Given the description of an element on the screen output the (x, y) to click on. 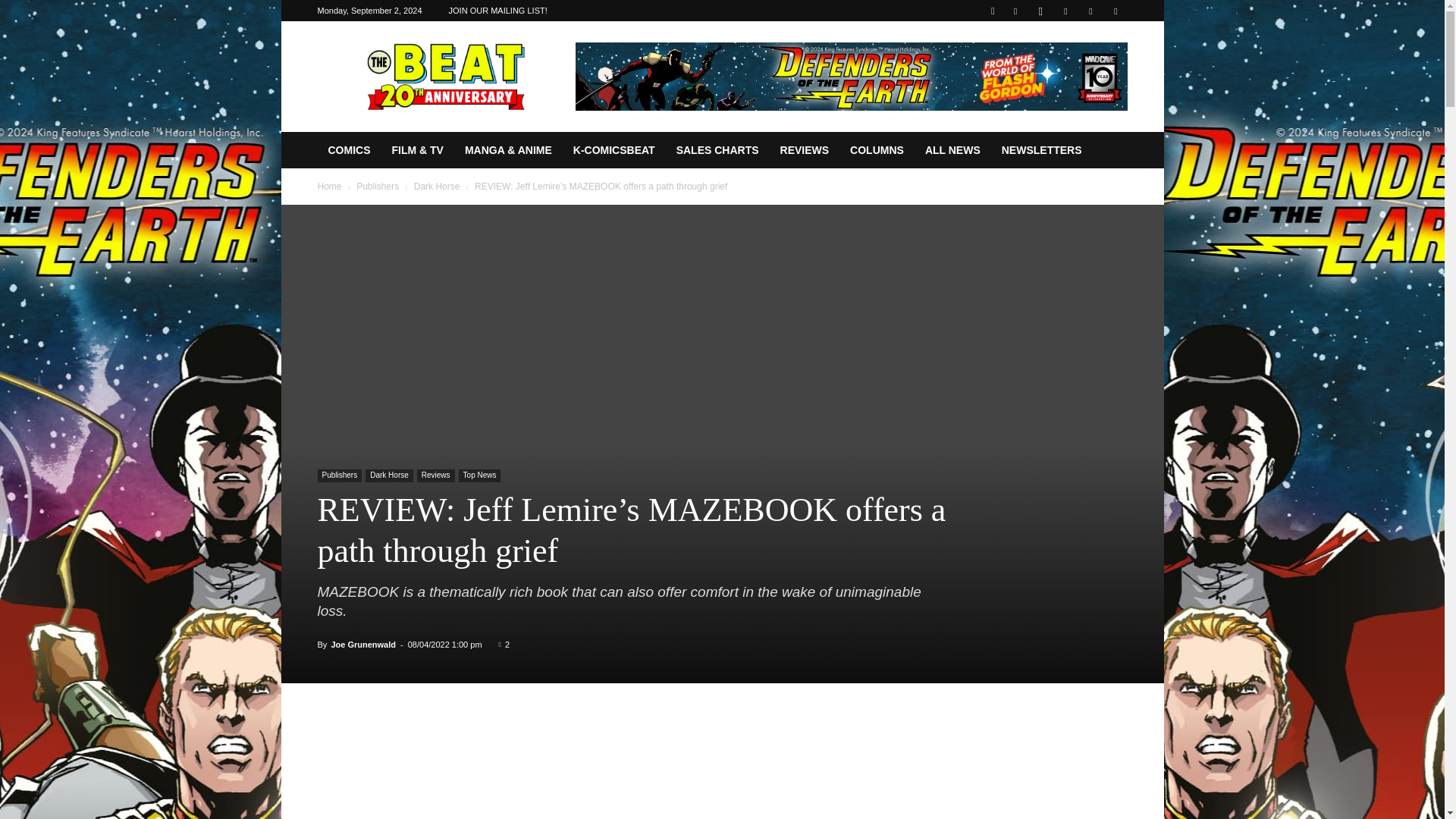
JOIN OUR MAILING LIST! (497, 10)
Youtube (1114, 10)
COMICS (348, 149)
Twitter (1090, 10)
View all posts in Publishers (377, 185)
RSS (1065, 10)
REVIEWS (805, 149)
K-COMICSBEAT (613, 149)
Facebook (1015, 10)
View all posts in Dark Horse (436, 185)
